Given the description of an element on the screen output the (x, y) to click on. 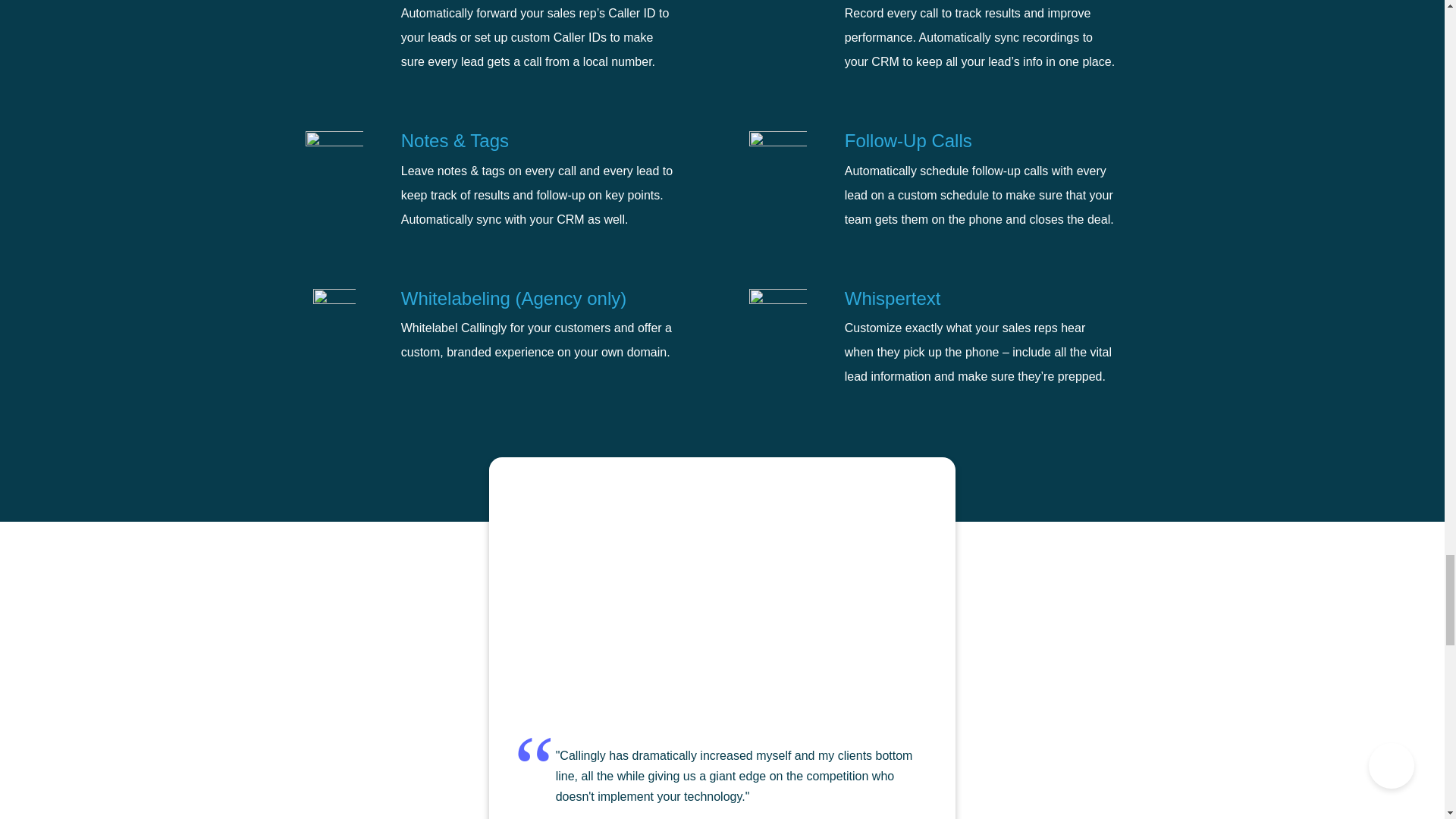
tags (333, 160)
whispertext (777, 314)
recording (777, 13)
callerid (333, 15)
followup (777, 158)
